Given the description of an element on the screen output the (x, y) to click on. 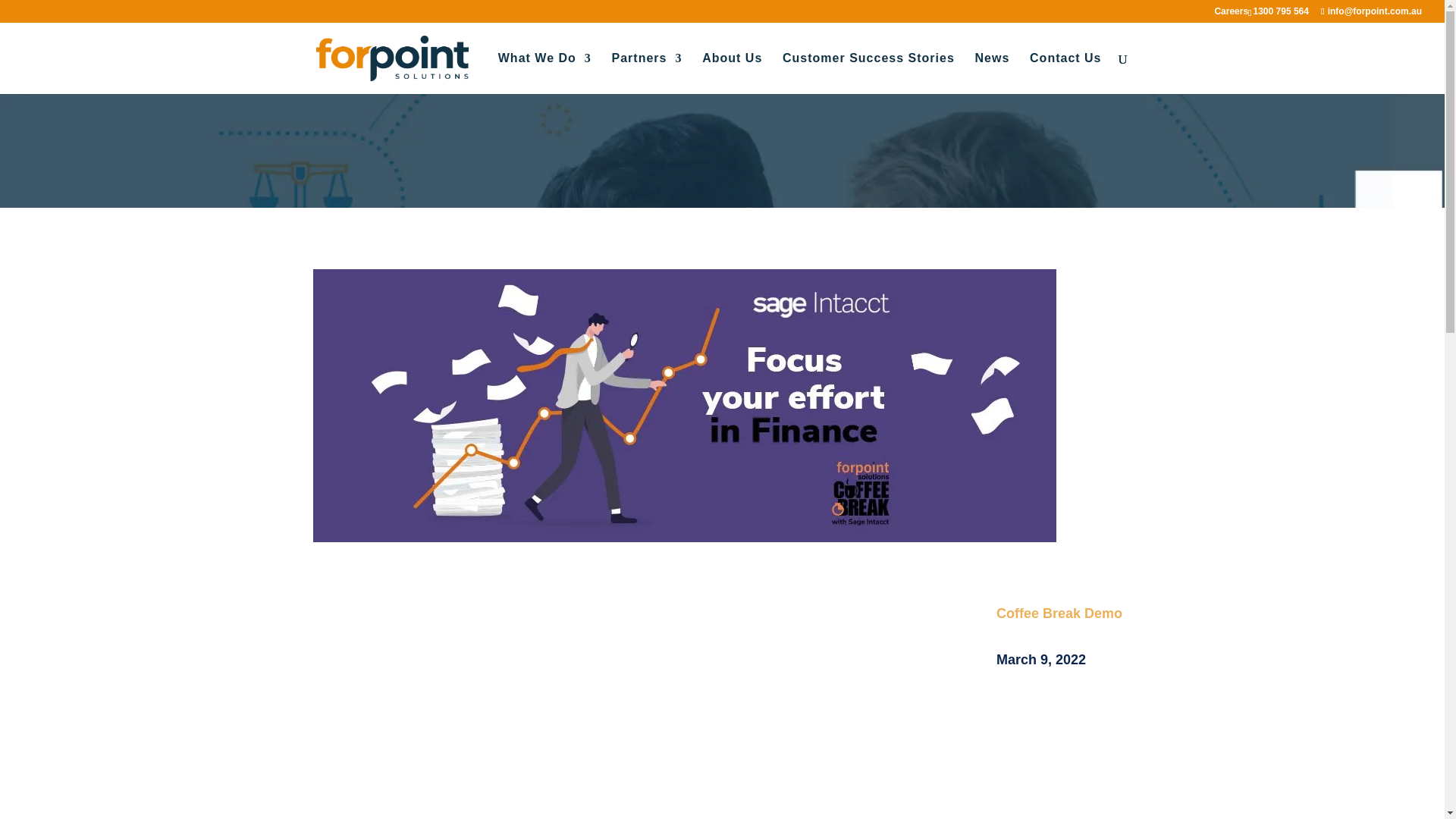
Careers (1230, 14)
